Given the description of an element on the screen output the (x, y) to click on. 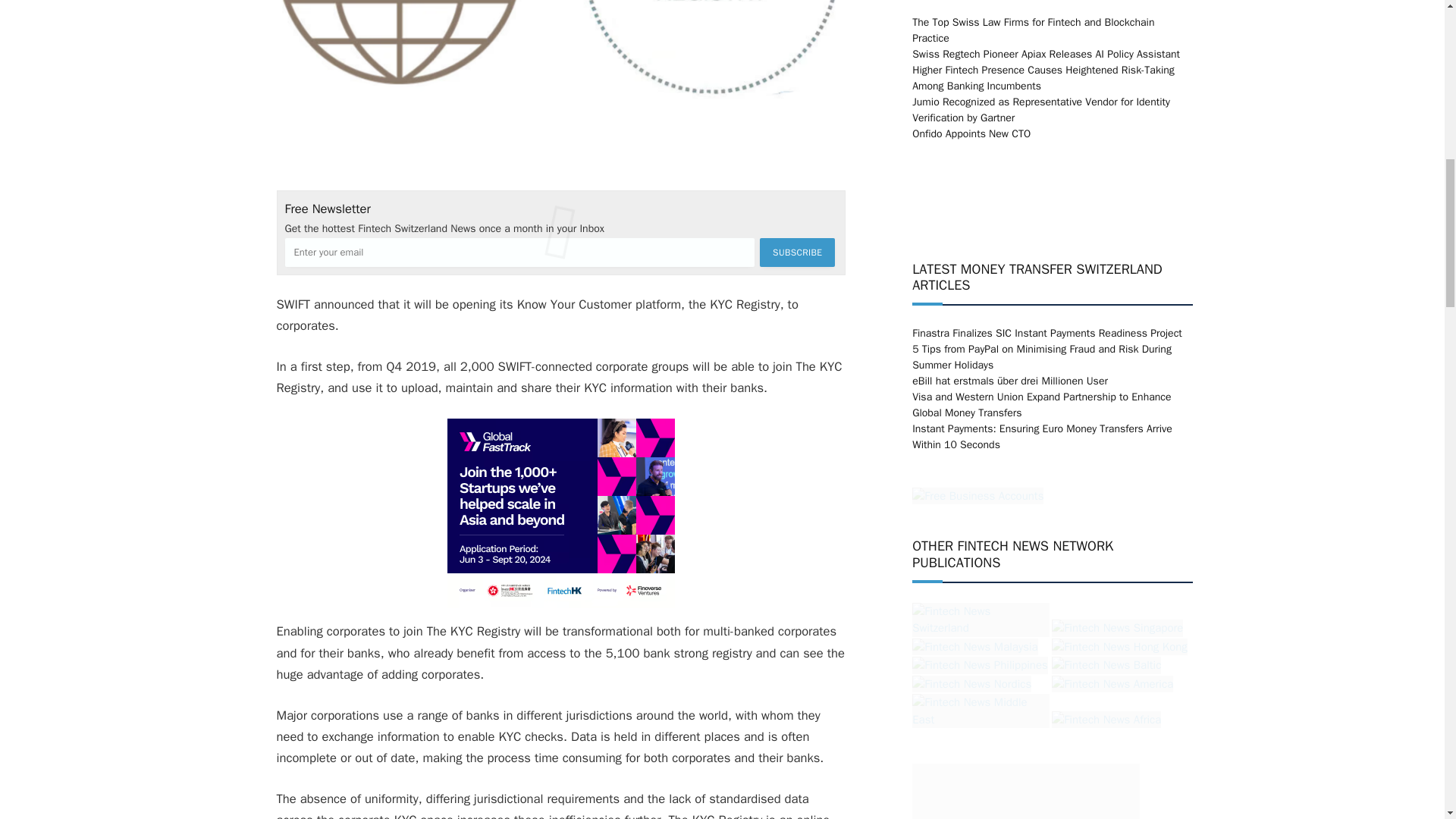
Subscribe (797, 252)
